Given the description of an element on the screen output the (x, y) to click on. 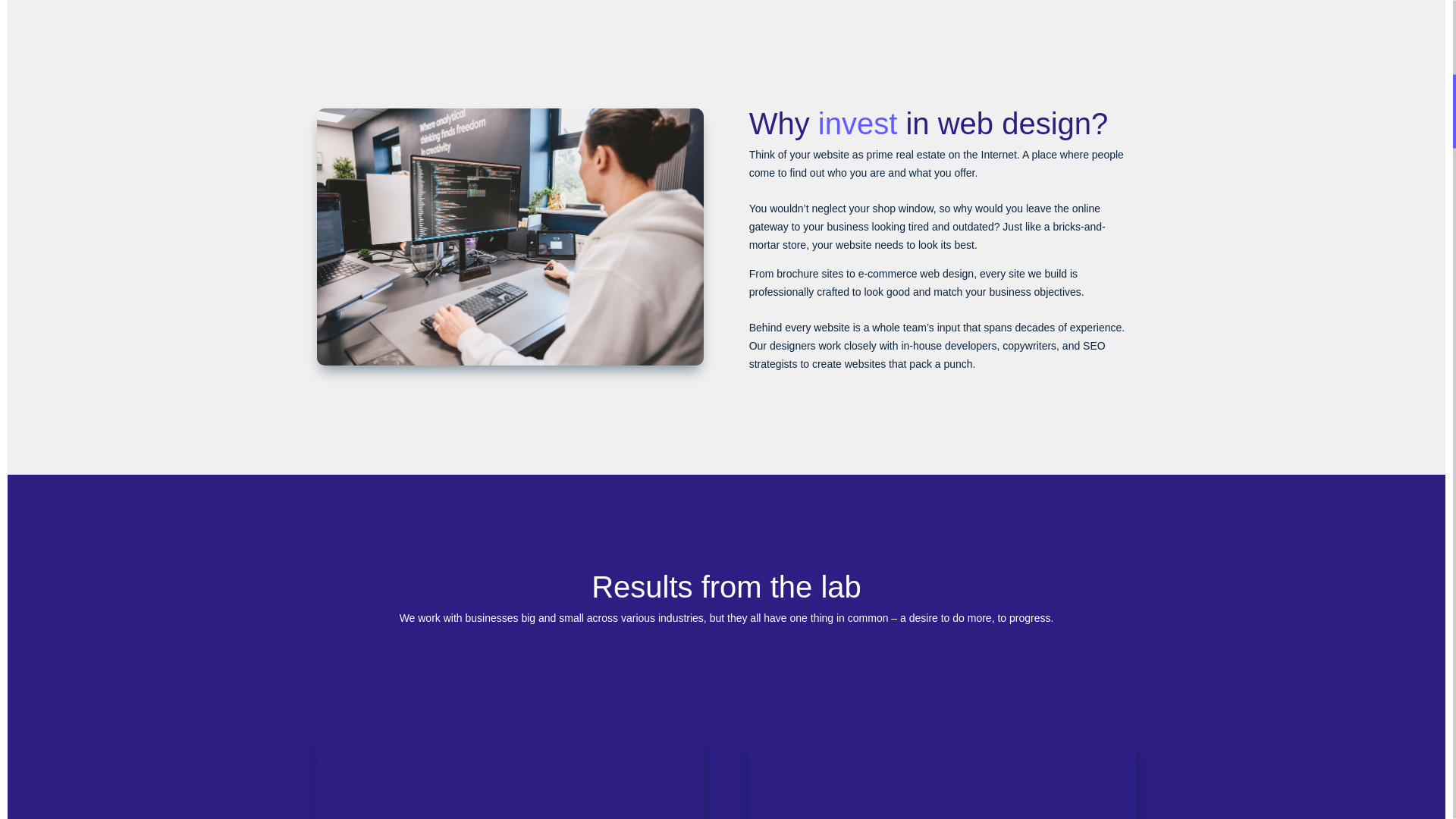
plascompo (942, 776)
atomic (510, 776)
marketinglabs-440 (510, 236)
master artwork-09 (727, 668)
